Given the description of an element on the screen output the (x, y) to click on. 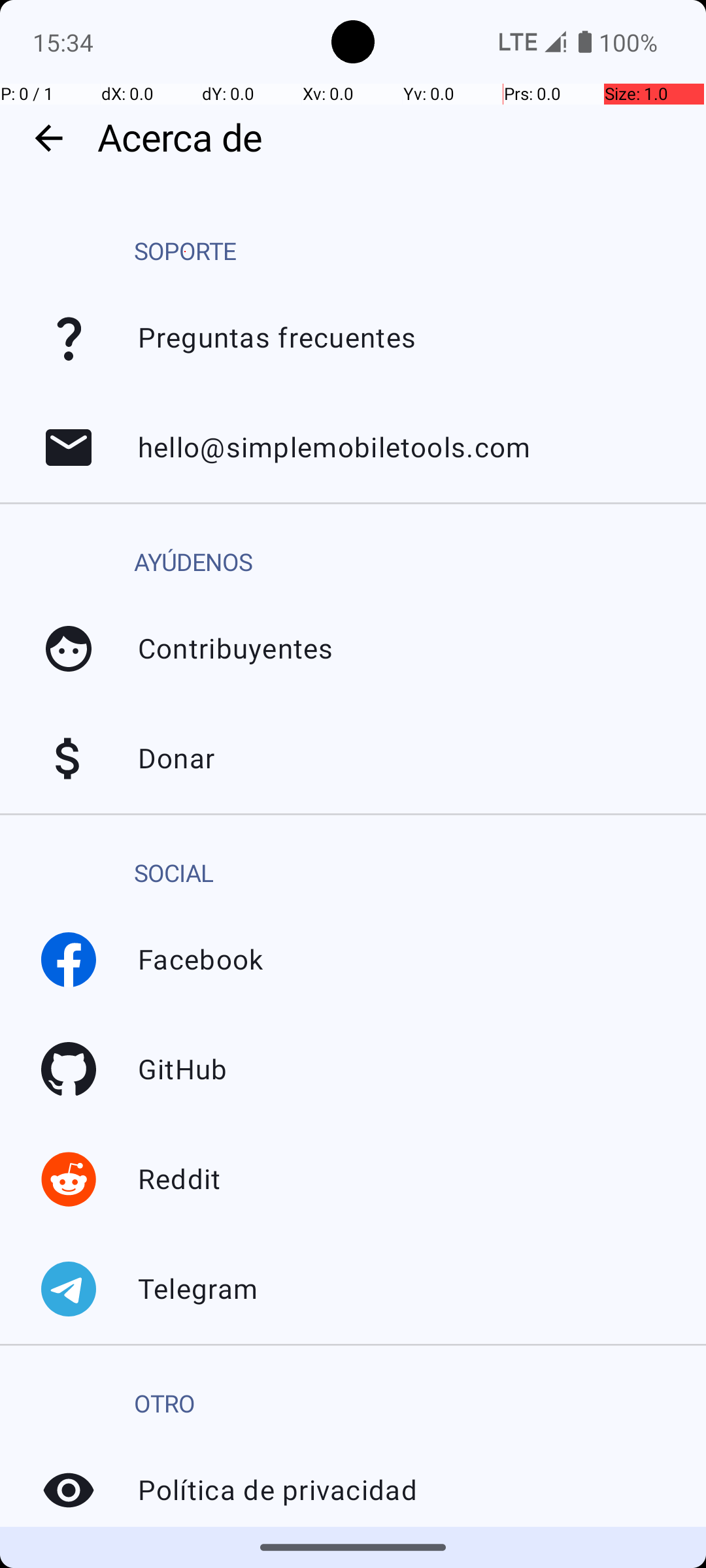
SOPORTE Element type: android.widget.TextView (184, 251)
AYÚDENOS Element type: android.widget.TextView (193, 562)
OTRO Element type: android.widget.TextView (164, 1404)
Preguntas frecuentes Element type: android.view.View (68, 337)
Contribuyentes Element type: android.view.View (68, 648)
Donar Element type: android.view.View (68, 758)
Política de privacidad Element type: android.view.View (68, 1489)
